Given the description of an element on the screen output the (x, y) to click on. 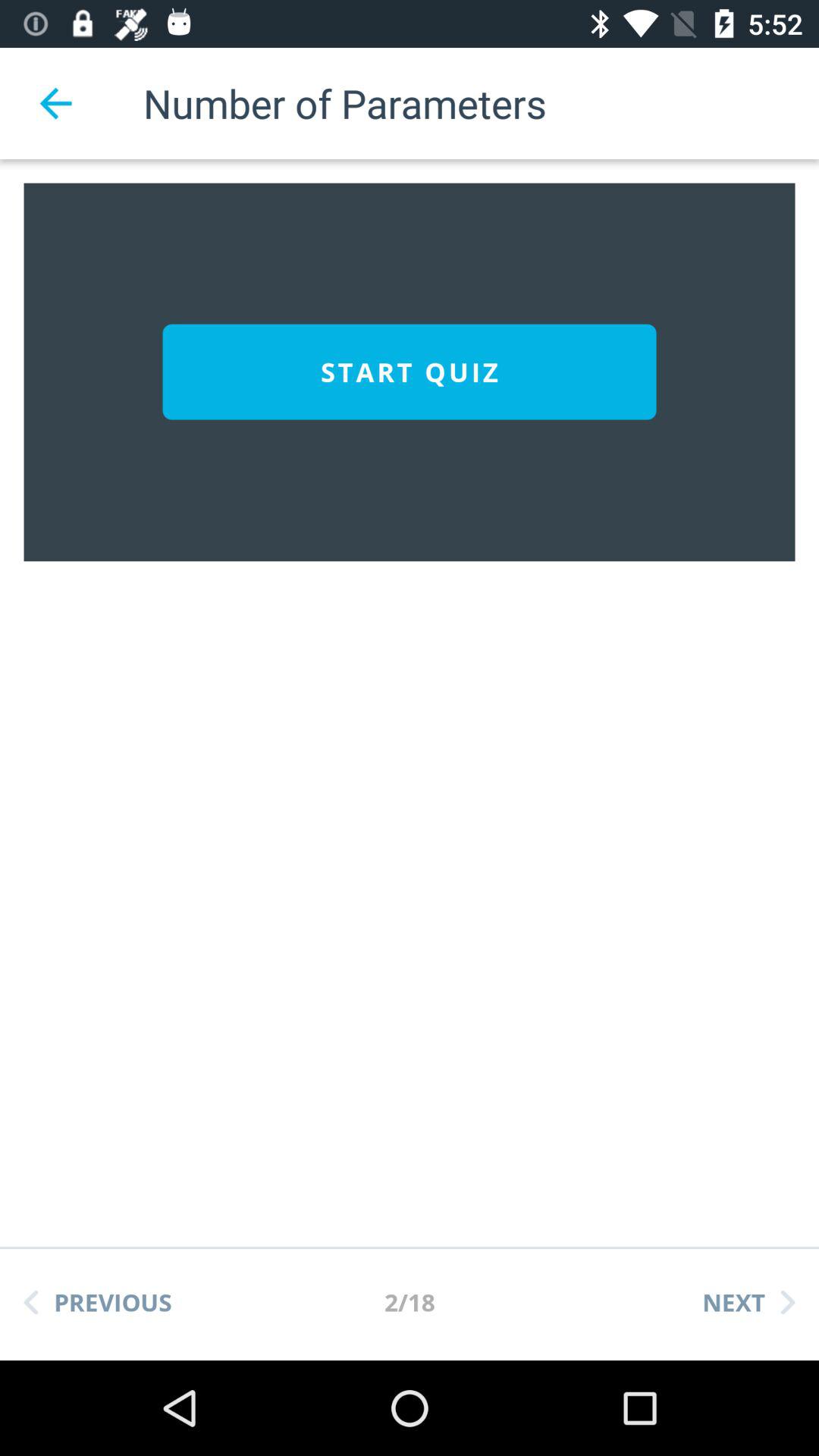
flip until start quiz (409, 371)
